Given the description of an element on the screen output the (x, y) to click on. 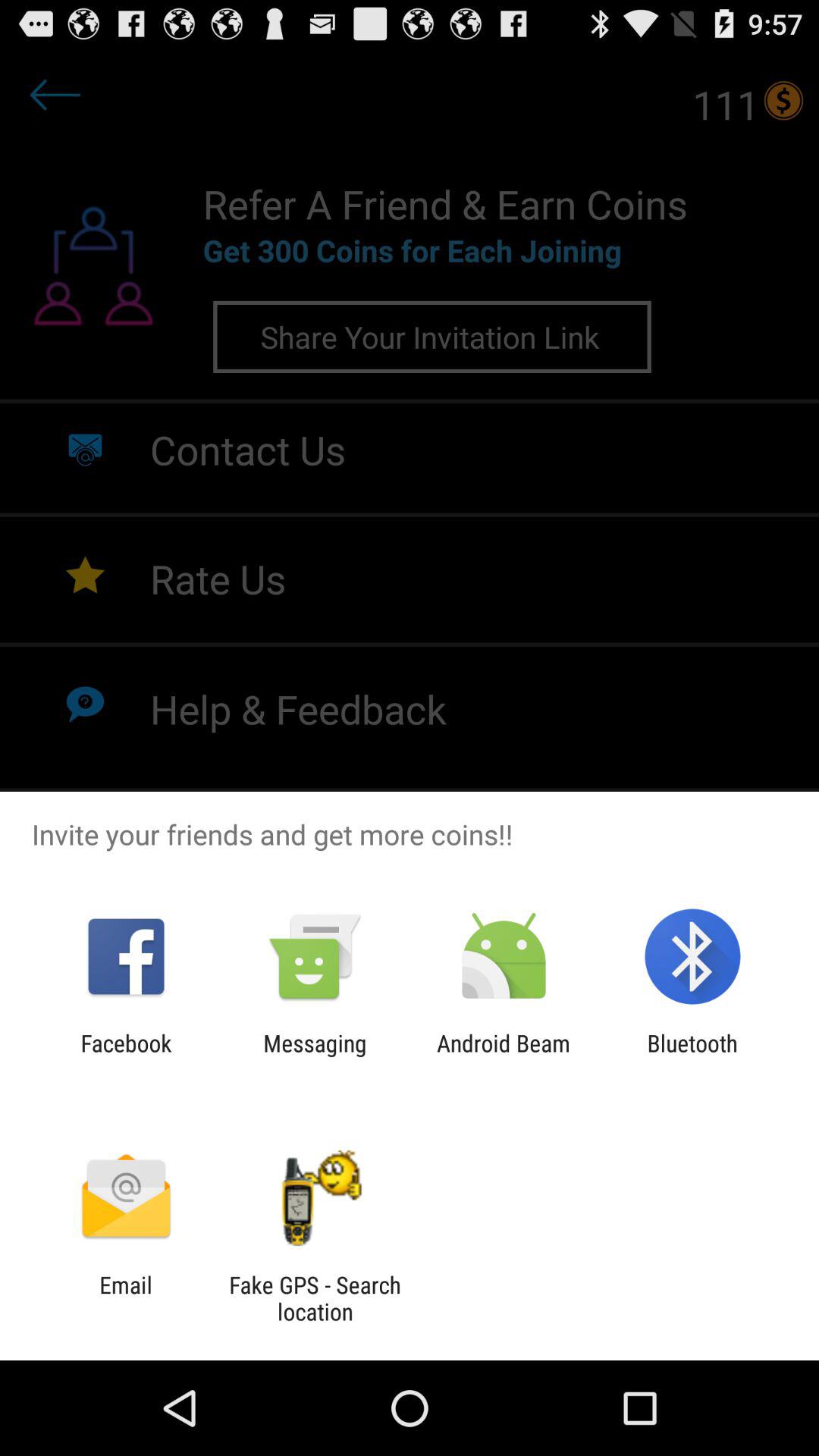
open the item to the left of fake gps search app (125, 1298)
